Given the description of an element on the screen output the (x, y) to click on. 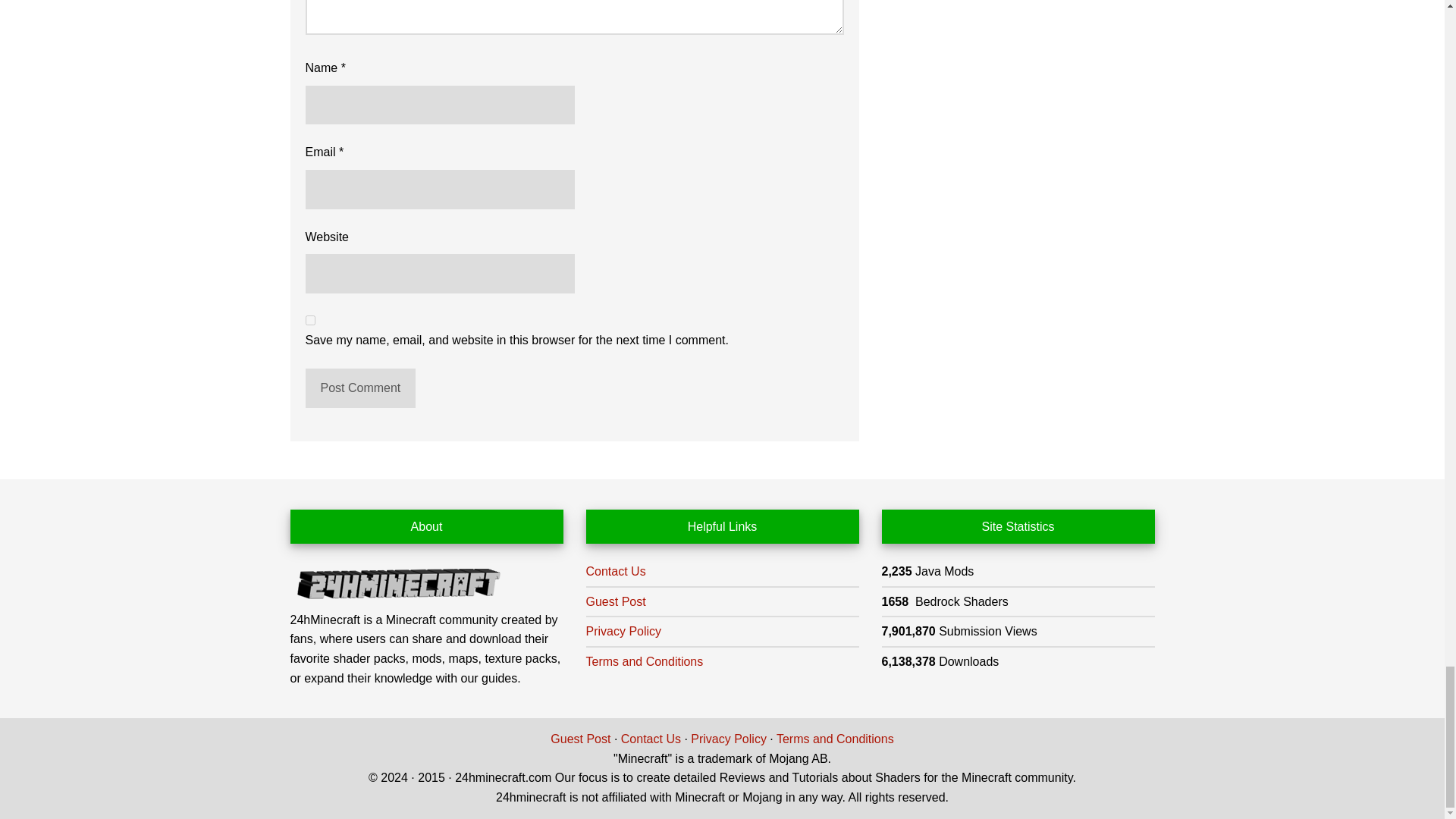
Post Comment (359, 387)
yes (309, 320)
